Given the description of an element on the screen output the (x, y) to click on. 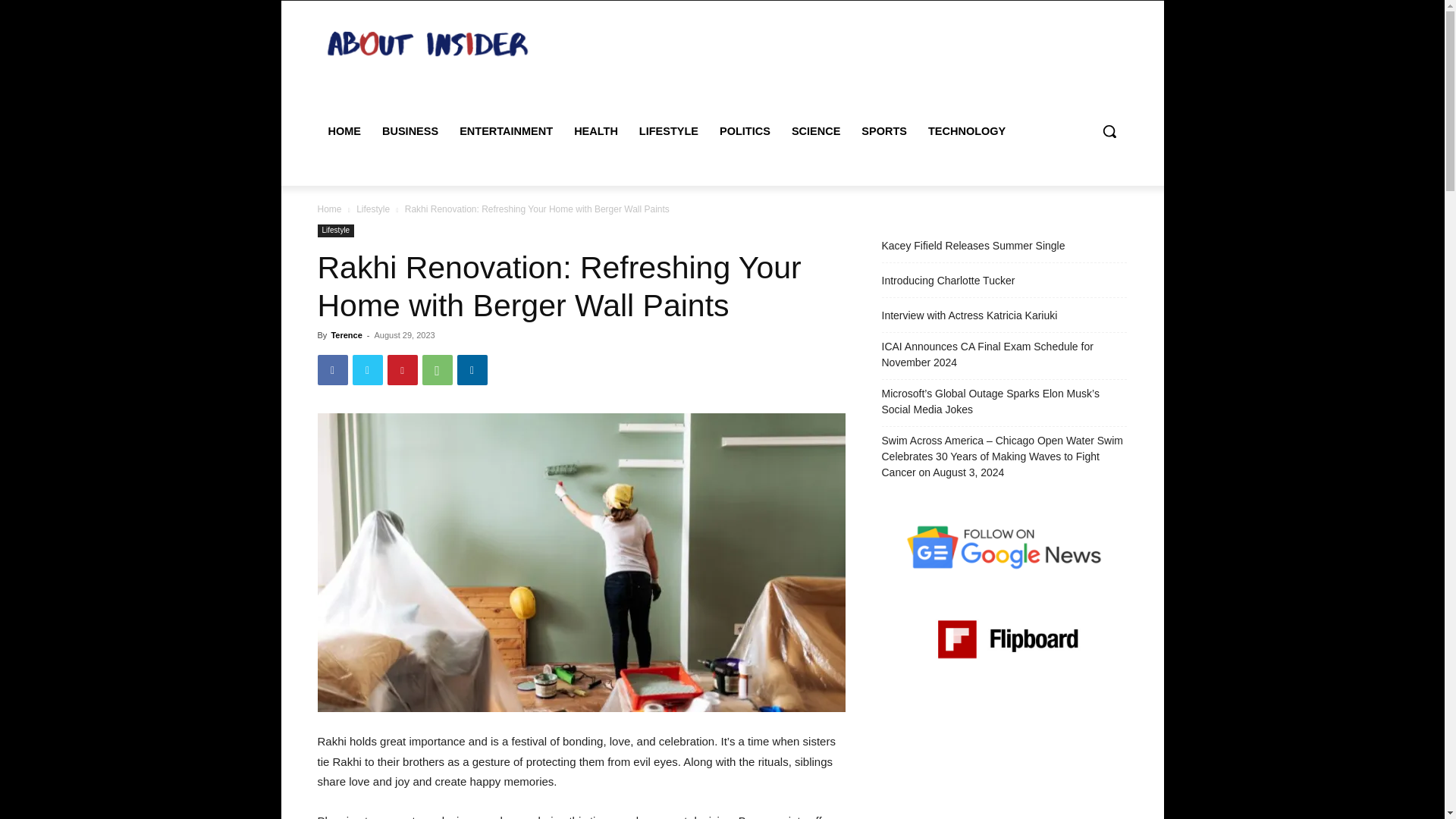
SPORTS (883, 131)
WhatsApp (436, 369)
HOME (344, 131)
Linkedin (471, 369)
SCIENCE (815, 131)
Lifestyle (335, 230)
LIFESTYLE (668, 131)
Twitter (366, 369)
BUSINESS (409, 131)
POLITICS (744, 131)
Pinterest (401, 369)
HEALTH (595, 131)
ENTERTAINMENT (505, 131)
Facebook (332, 369)
